Given the description of an element on the screen output the (x, y) to click on. 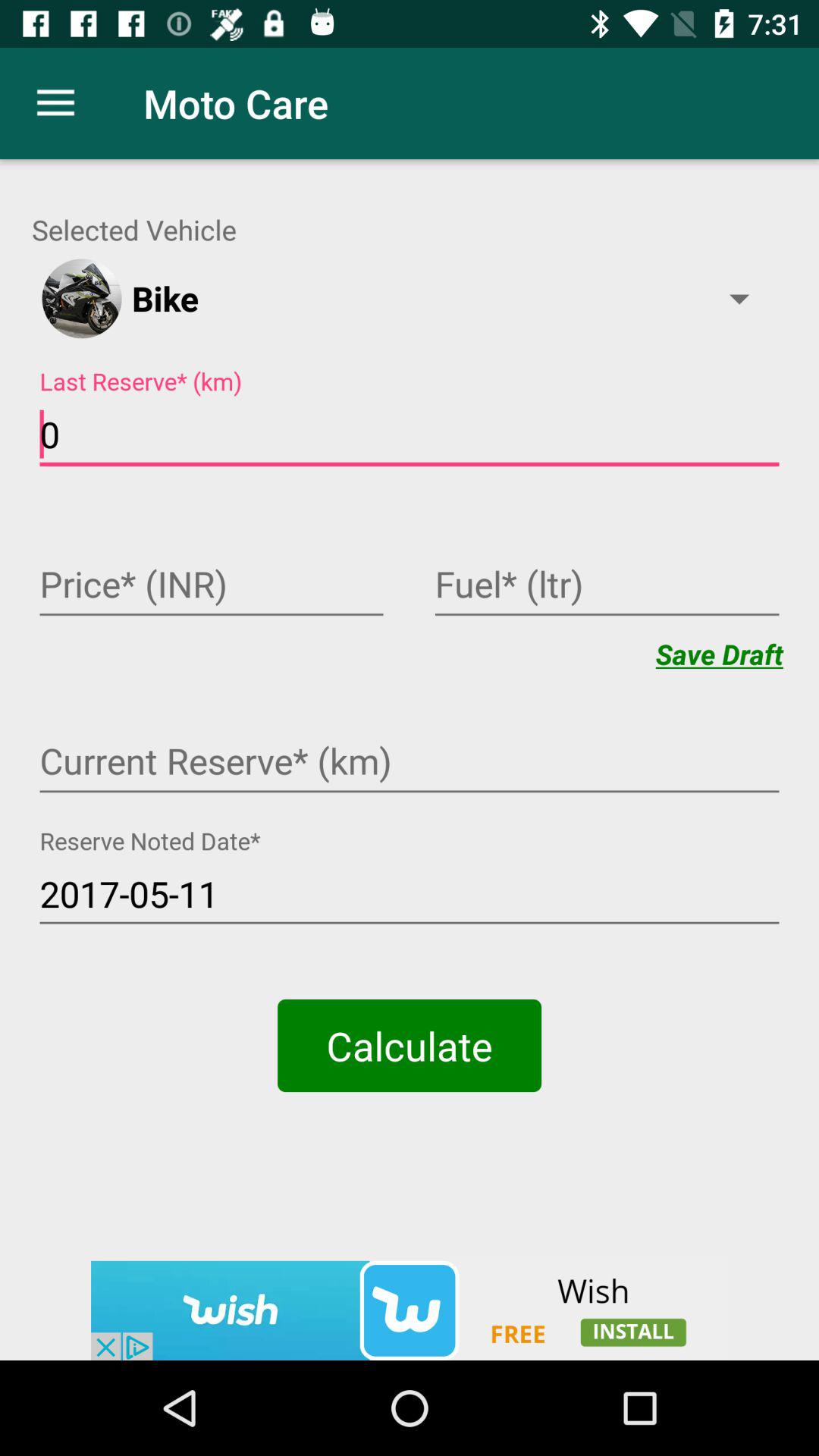
click on wish advertisement (409, 1310)
